Given the description of an element on the screen output the (x, y) to click on. 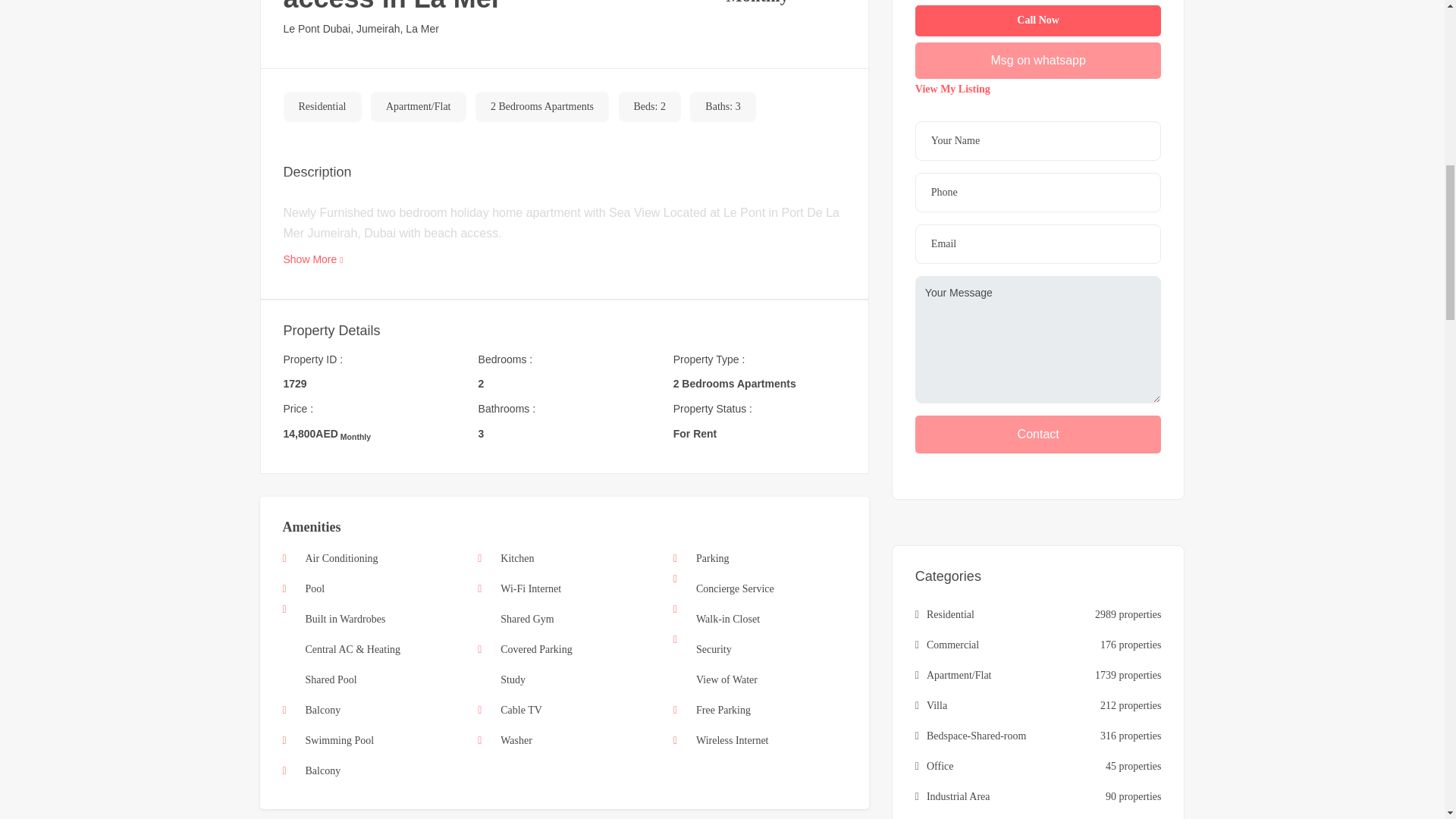
Baths: 3 (721, 106)
Air Conditioning (340, 558)
Beds: 2 (649, 106)
Residential (322, 106)
View of Water (726, 679)
Balcony (322, 709)
Covered Parking (536, 649)
Shared Gym (526, 618)
Swimming Pool (339, 740)
Cable TV (520, 709)
Show More (313, 259)
Parking (712, 558)
Free Parking (723, 709)
Security (713, 649)
Wi-Fi Internet (530, 588)
